Given the description of an element on the screen output the (x, y) to click on. 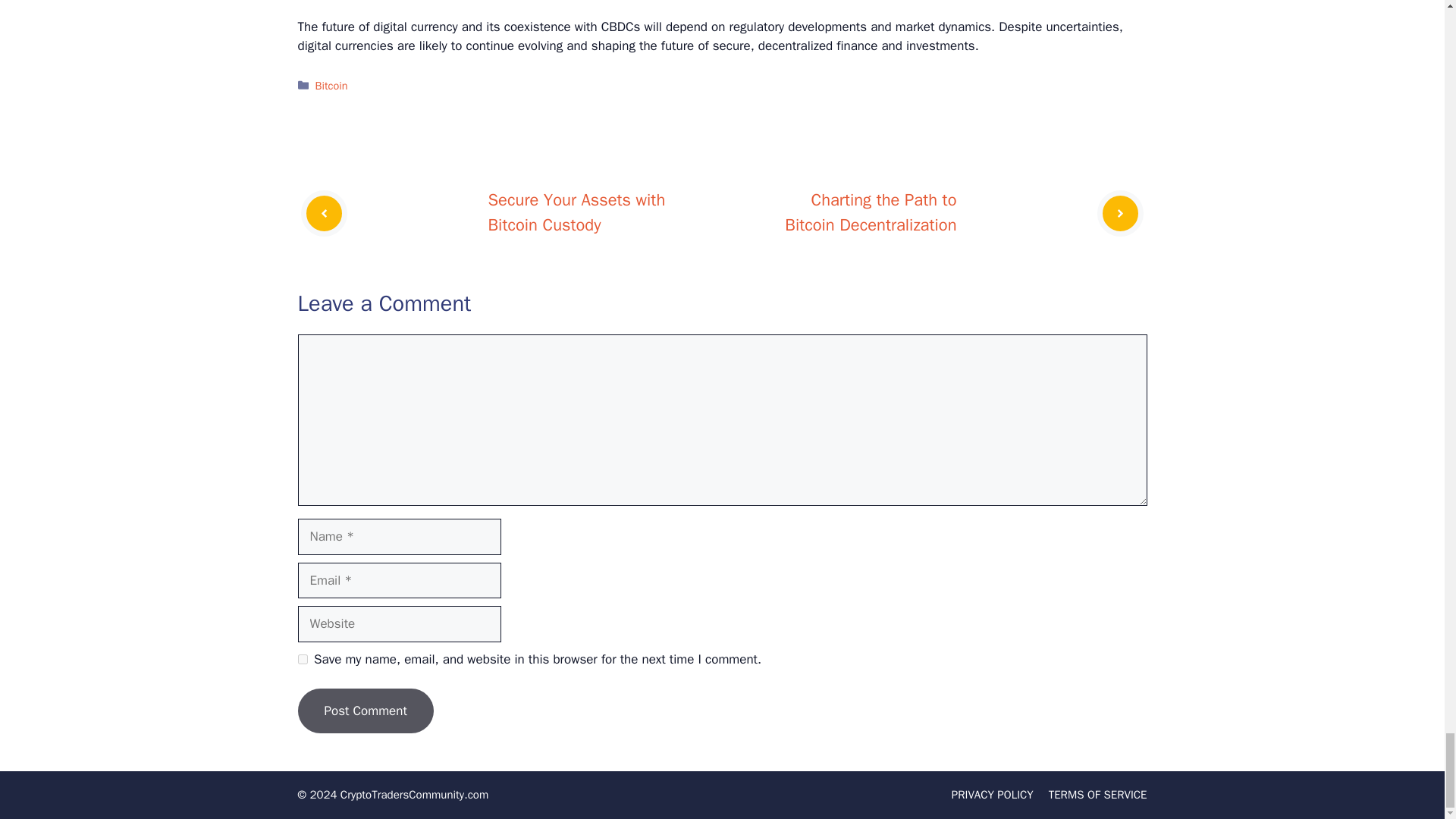
TERMS OF SERVICE (1097, 794)
Post Comment (364, 710)
Post Comment (364, 710)
Bitcoin (331, 85)
Secure Your Assets with Bitcoin Custody (576, 212)
Charting the Path to Bitcoin Decentralization (870, 212)
yes (302, 659)
PRIVACY POLICY (992, 794)
